Given the description of an element on the screen output the (x, y) to click on. 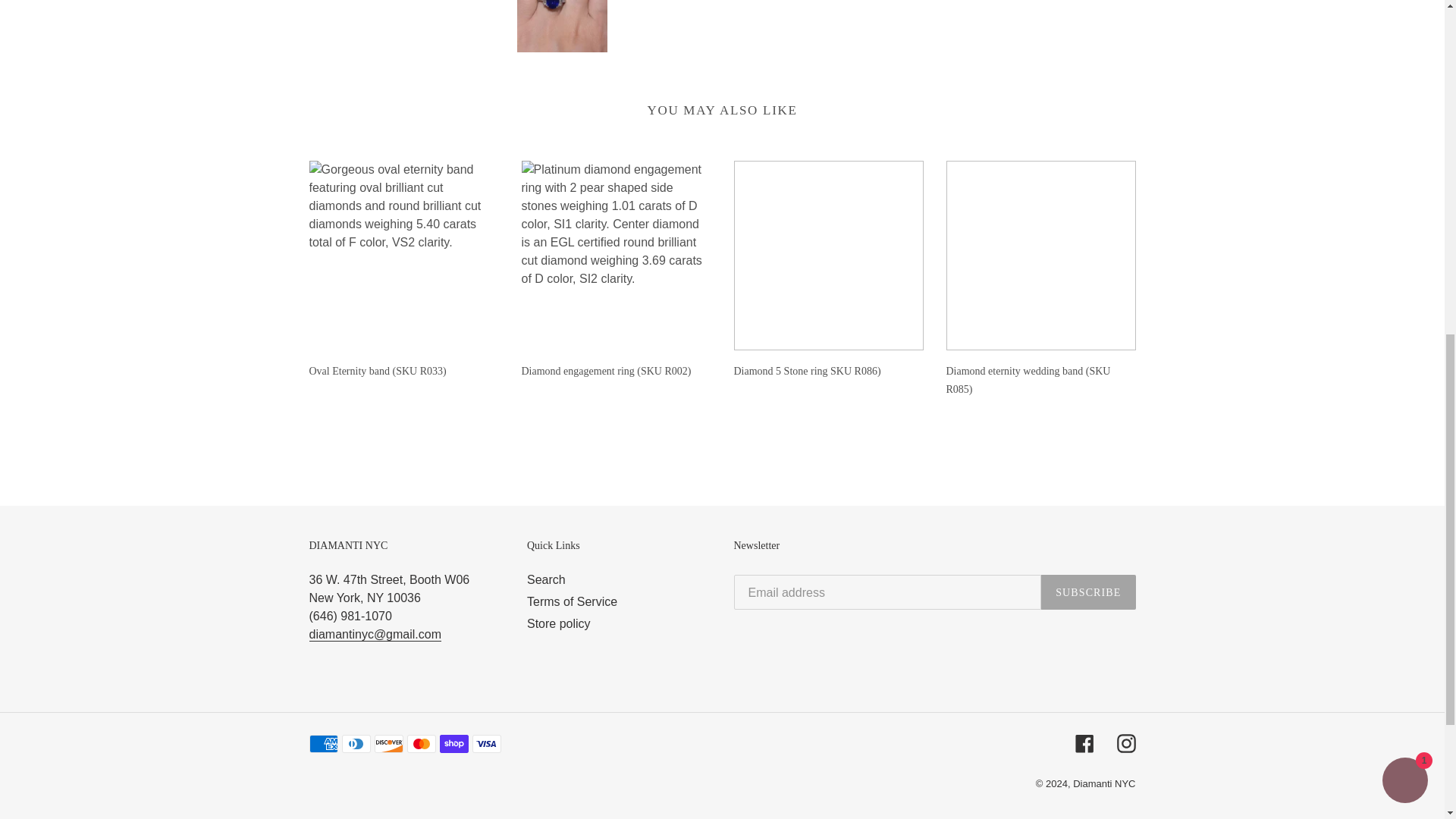
Shopify online store chat (1404, 101)
